Given the description of an element on the screen output the (x, y) to click on. 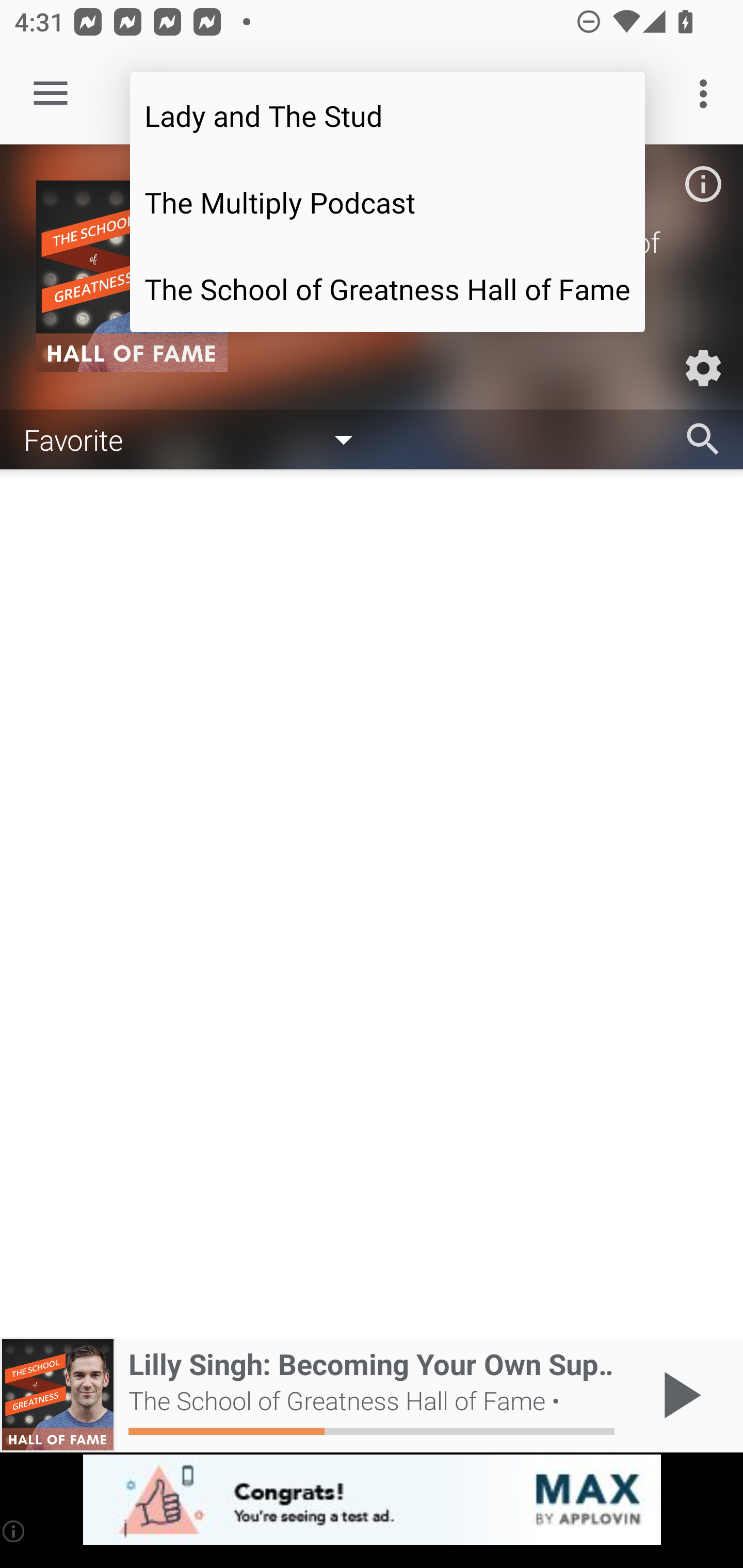
Lady and The Stud (387, 115)
The Multiply Podcast (387, 202)
The School of Greatness Hall of Fame (387, 289)
